Given the description of an element on the screen output the (x, y) to click on. 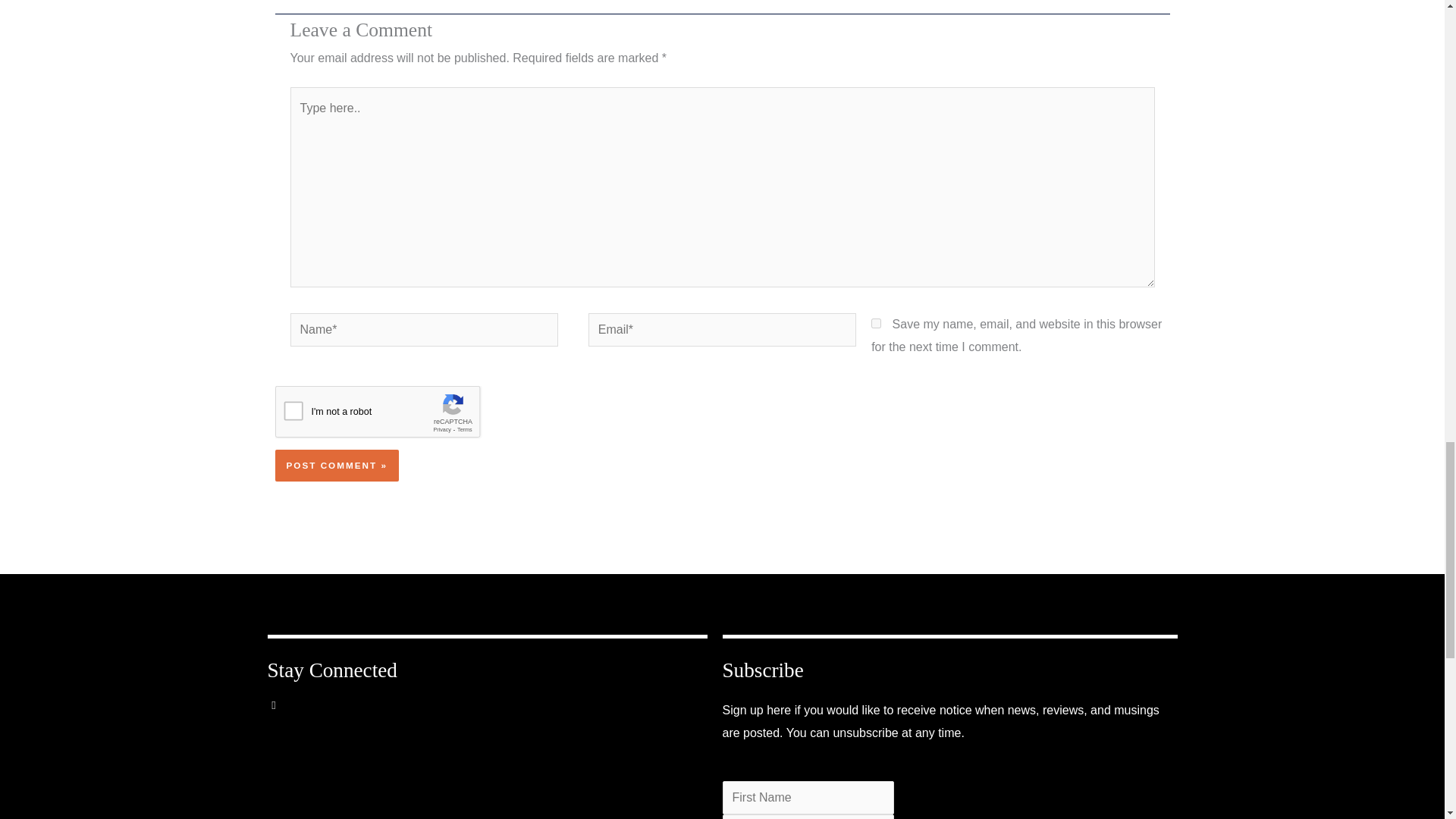
yes (875, 323)
Facebook-f (283, 716)
reCAPTCHA (390, 415)
